Given the description of an element on the screen output the (x, y) to click on. 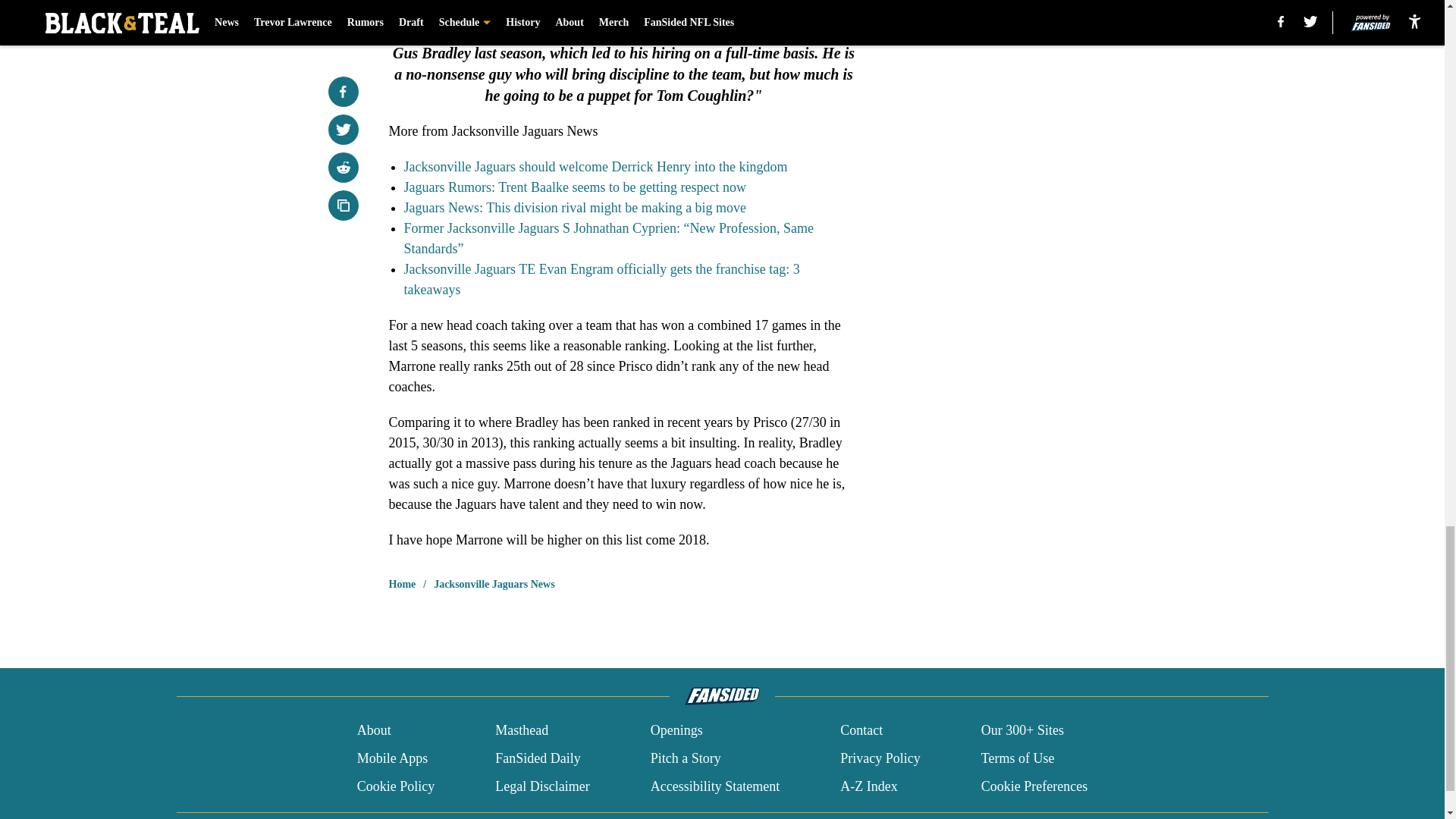
Jaguars Rumors: Trent Baalke seems to be getting respect now (574, 186)
Masthead (521, 730)
Pitch a Story (685, 758)
About (373, 730)
Contact (861, 730)
FanSided Daily (537, 758)
Privacy Policy (880, 758)
Jacksonville Jaguars News (493, 584)
Home (401, 584)
Mobile Apps (392, 758)
Jaguars News: This division rival might be making a big move (574, 207)
Openings (676, 730)
